Given the description of an element on the screen output the (x, y) to click on. 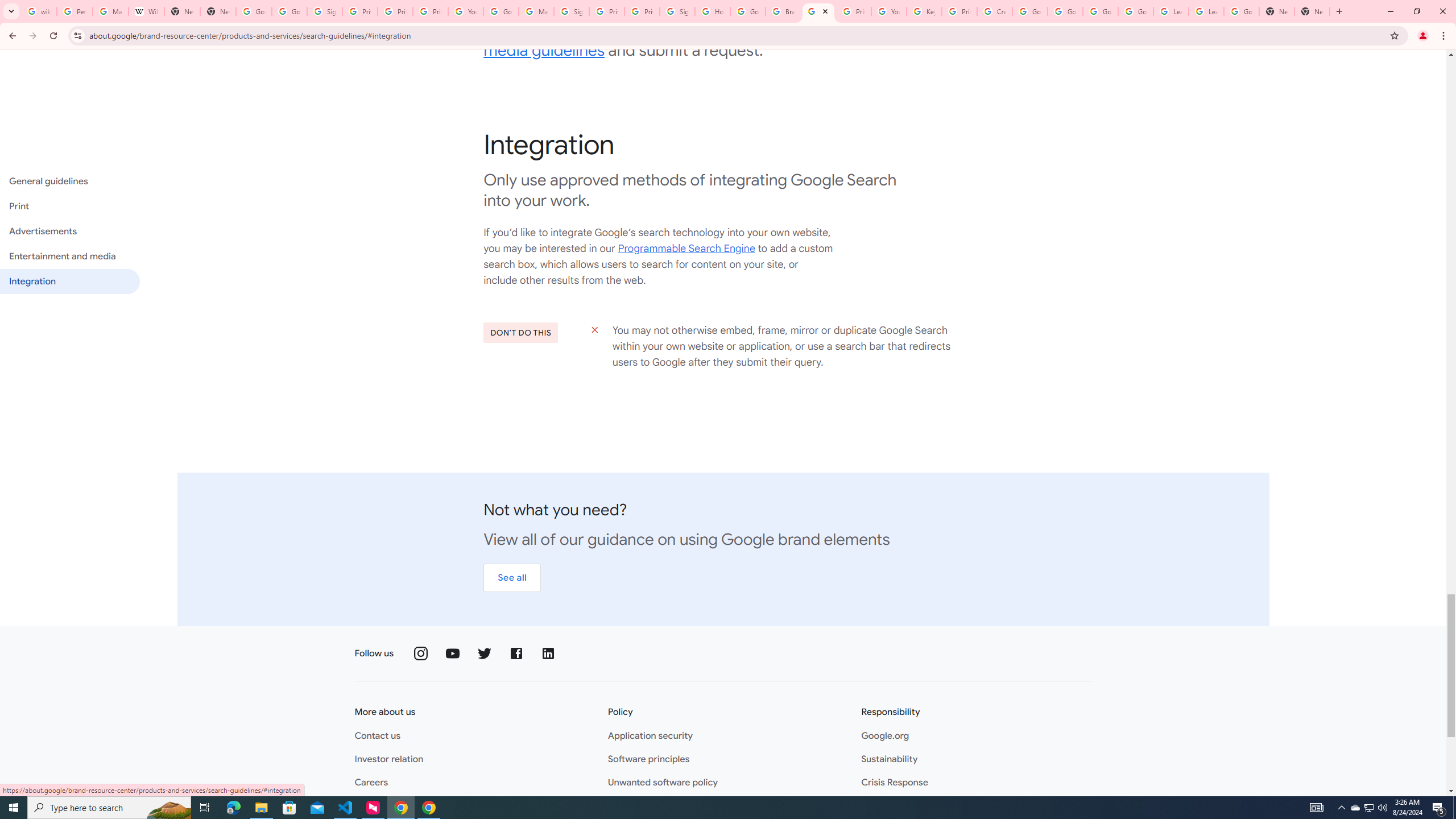
Google Account (1240, 11)
Investor relation (388, 759)
New Tab (1312, 11)
Entertainment and media (69, 256)
Google Account Help (501, 11)
Sustainability (888, 759)
